Given the description of an element on the screen output the (x, y) to click on. 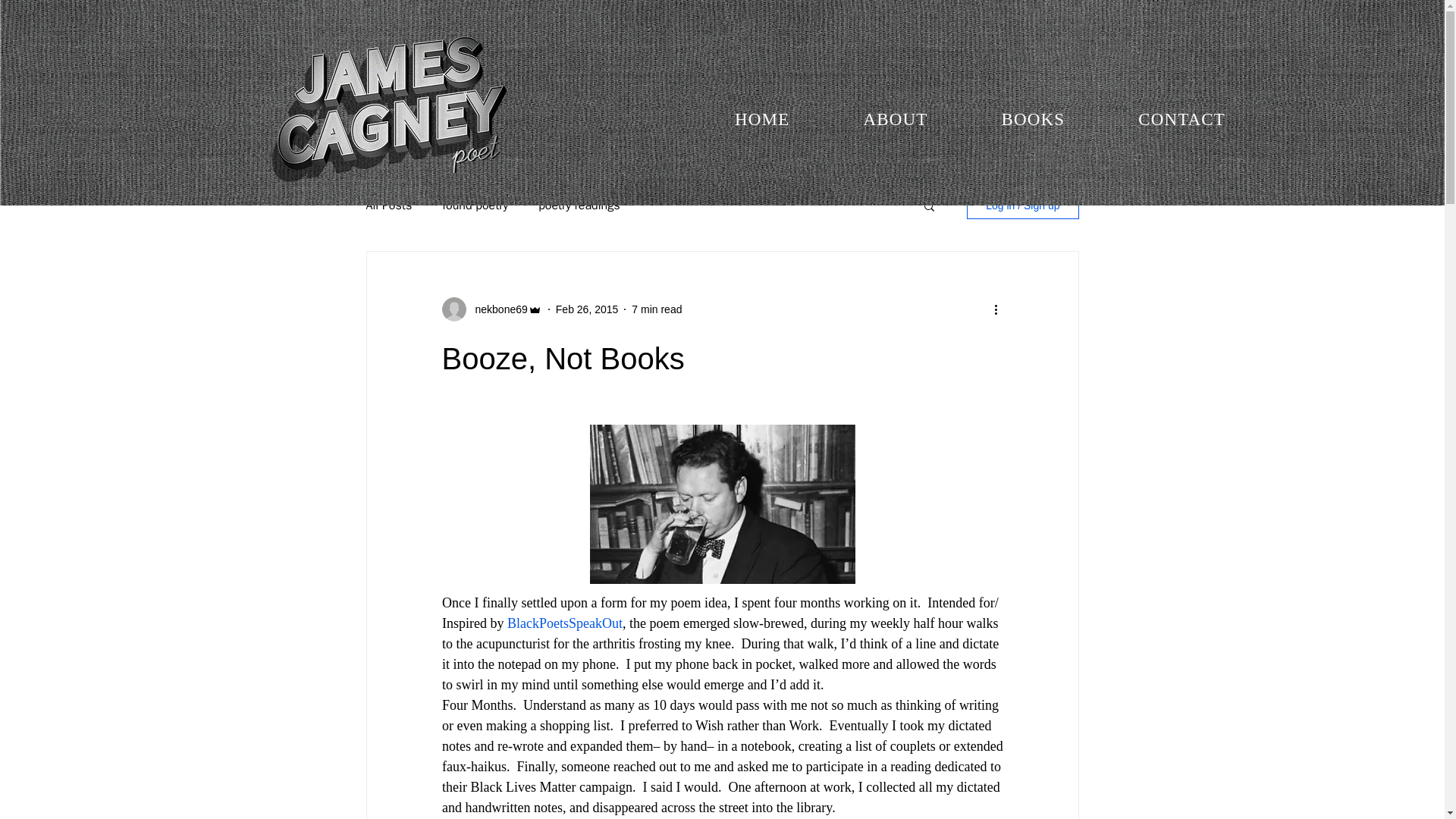
Feb 26, 2015 (587, 309)
BOOKS (1033, 119)
ABOUT (894, 119)
BlackPoetsSpeakOut (563, 622)
nekbone69 (496, 309)
CONTACT (1182, 119)
found poetry (475, 204)
HOME (761, 119)
7 min read (656, 309)
All Posts (388, 204)
